Given the description of an element on the screen output the (x, y) to click on. 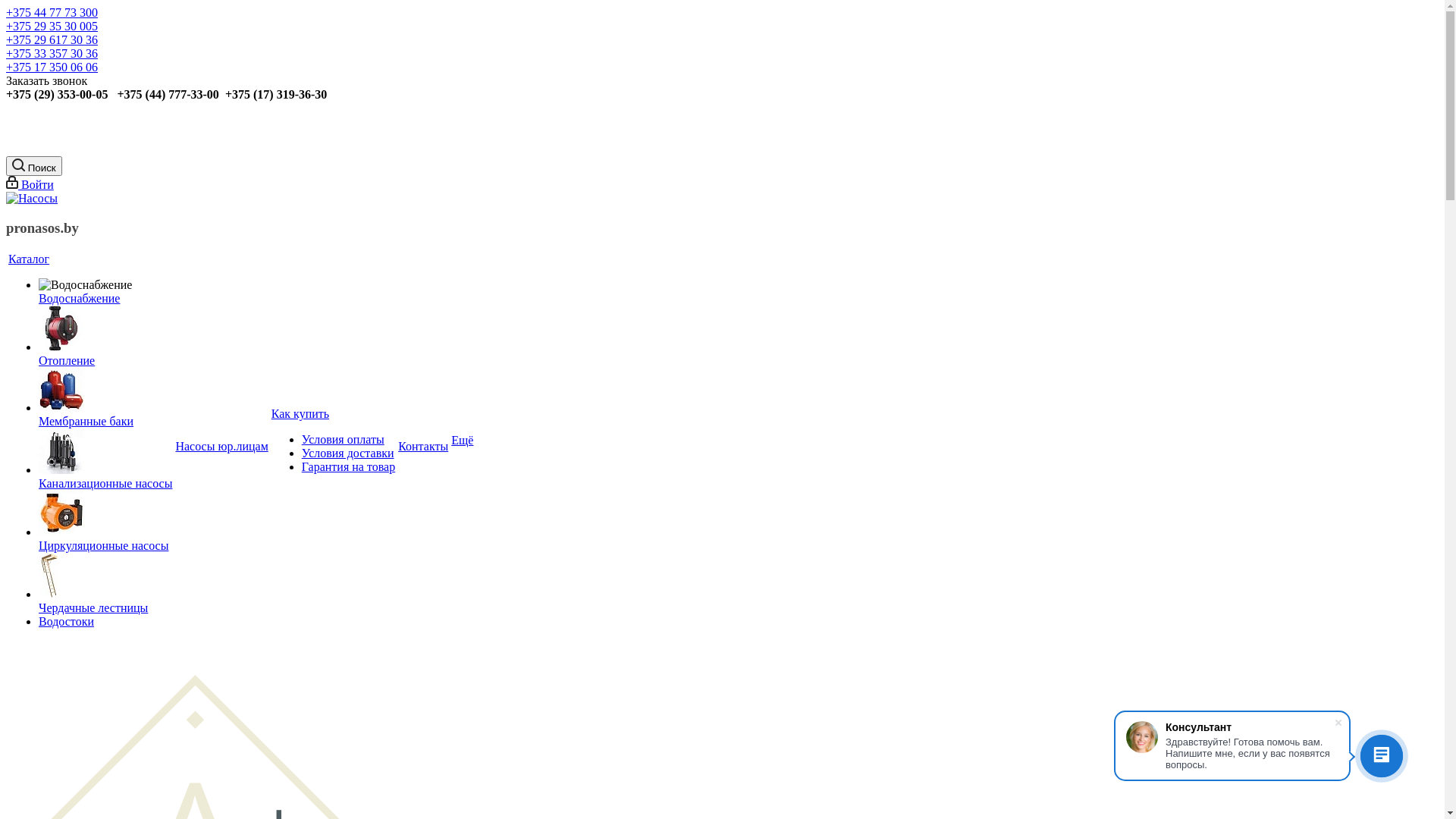
+375 44 77 73 300 Element type: text (51, 12)
+375 29 35 30 005 Element type: text (51, 25)
+375 17 350 06 06 Element type: text (51, 66)
+375 33 357 30 36 Element type: text (51, 53)
+375 29 617 30 36 Element type: text (51, 39)
